Given the description of an element on the screen output the (x, y) to click on. 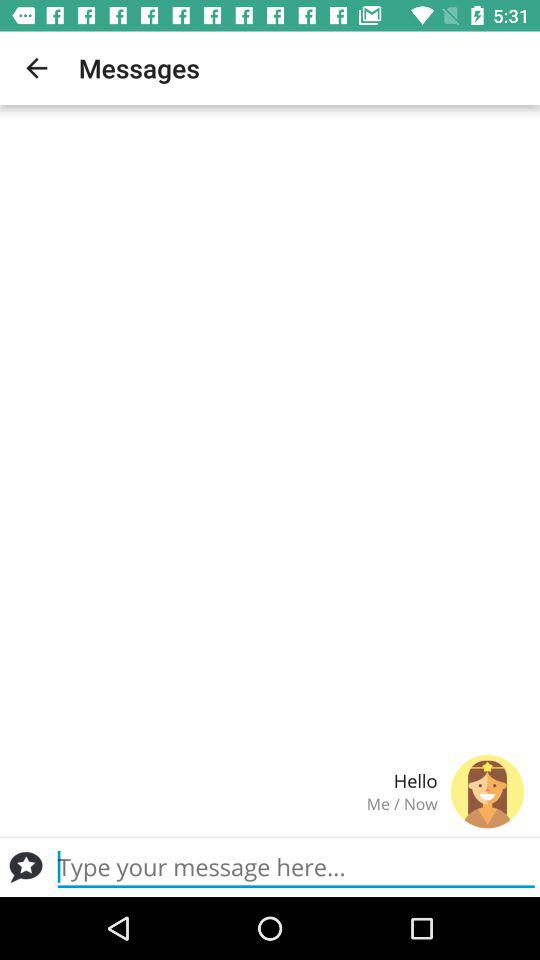
turn off the item at the bottom right corner (487, 791)
